Given the description of an element on the screen output the (x, y) to click on. 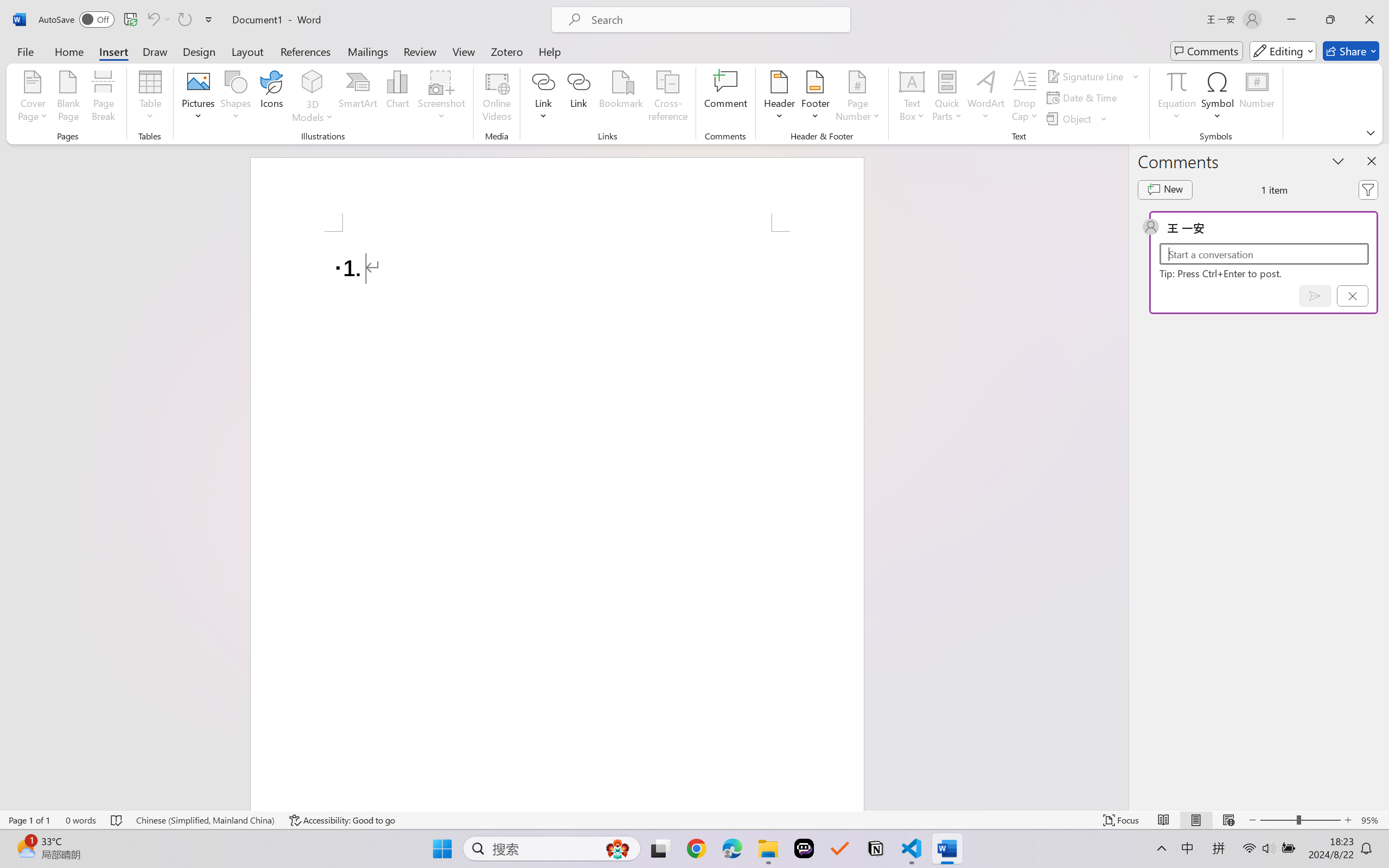
Date & Time... (1083, 97)
Footer (815, 97)
Cover Page (33, 97)
Cross-reference... (667, 97)
New comment (1165, 189)
